Given the description of an element on the screen output the (x, y) to click on. 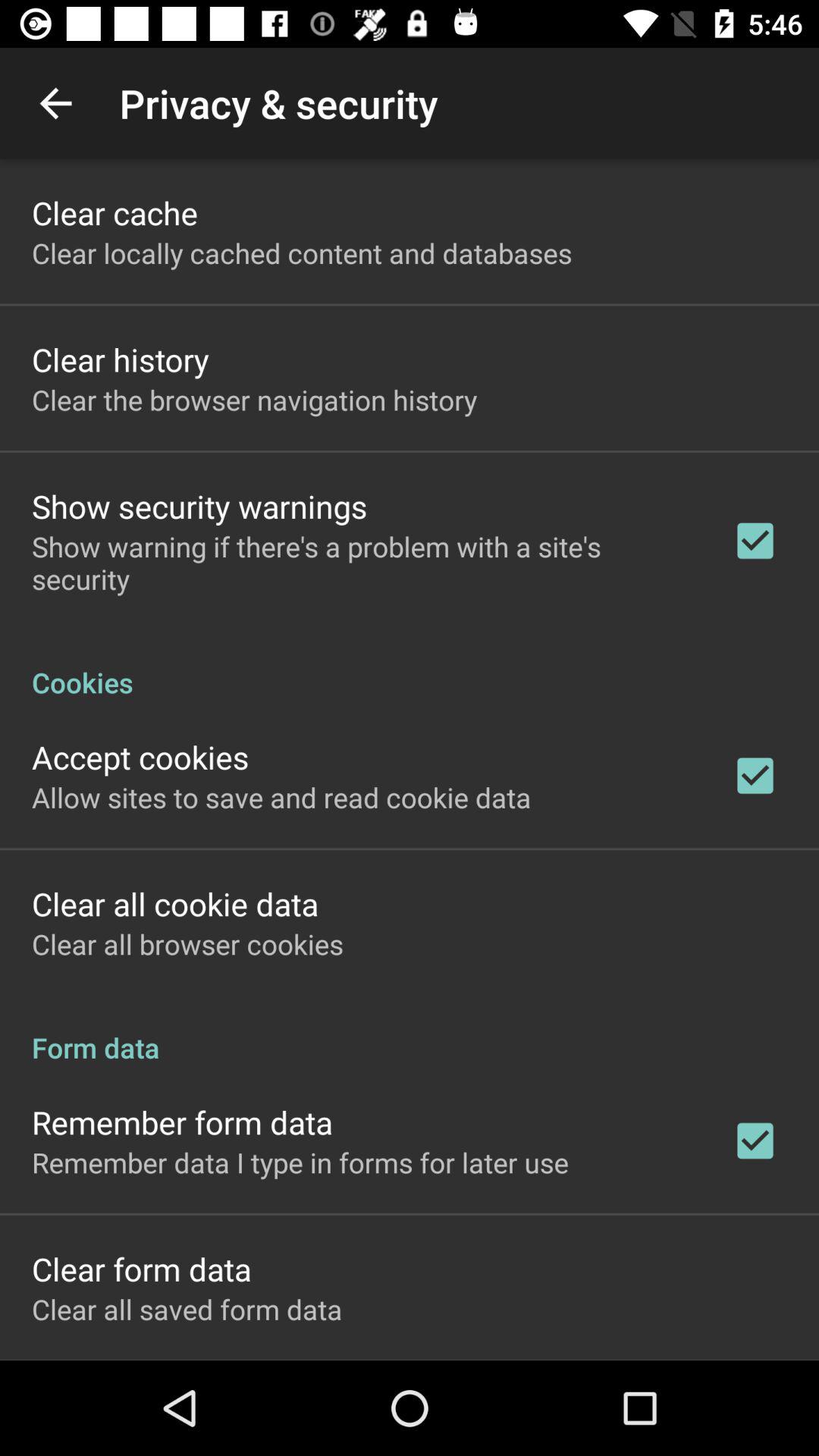
choose app above clear history icon (301, 252)
